Given the description of an element on the screen output the (x, y) to click on. 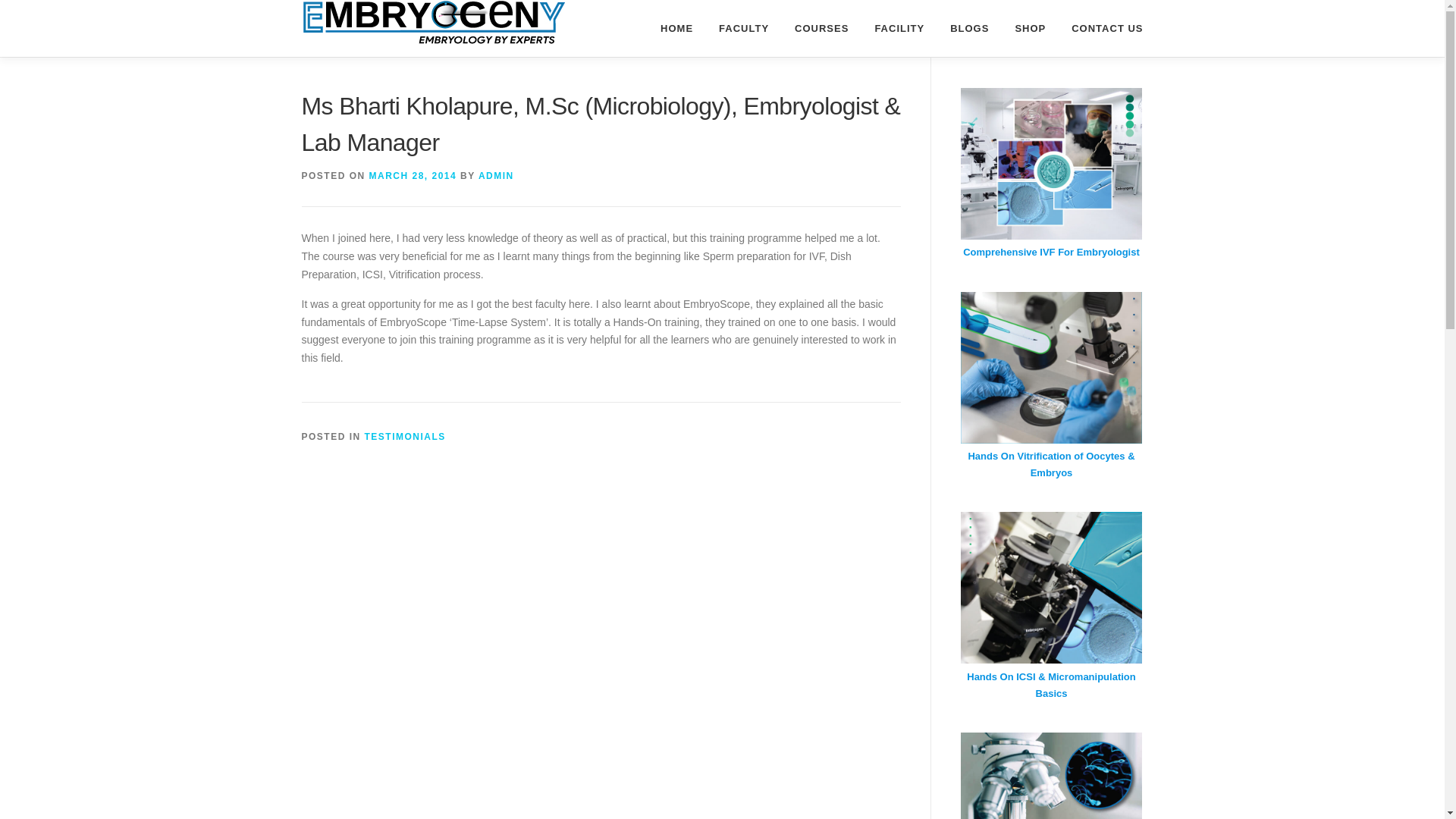
FACILITY (899, 28)
BLOGS (969, 28)
ADMIN (496, 175)
HOME (676, 28)
COURSES (821, 28)
CONTACT US (1100, 28)
MARCH 28, 2014 (413, 175)
TESTIMONIALS (405, 436)
FACULTY (743, 28)
SHOP (1029, 28)
